Given the description of an element on the screen output the (x, y) to click on. 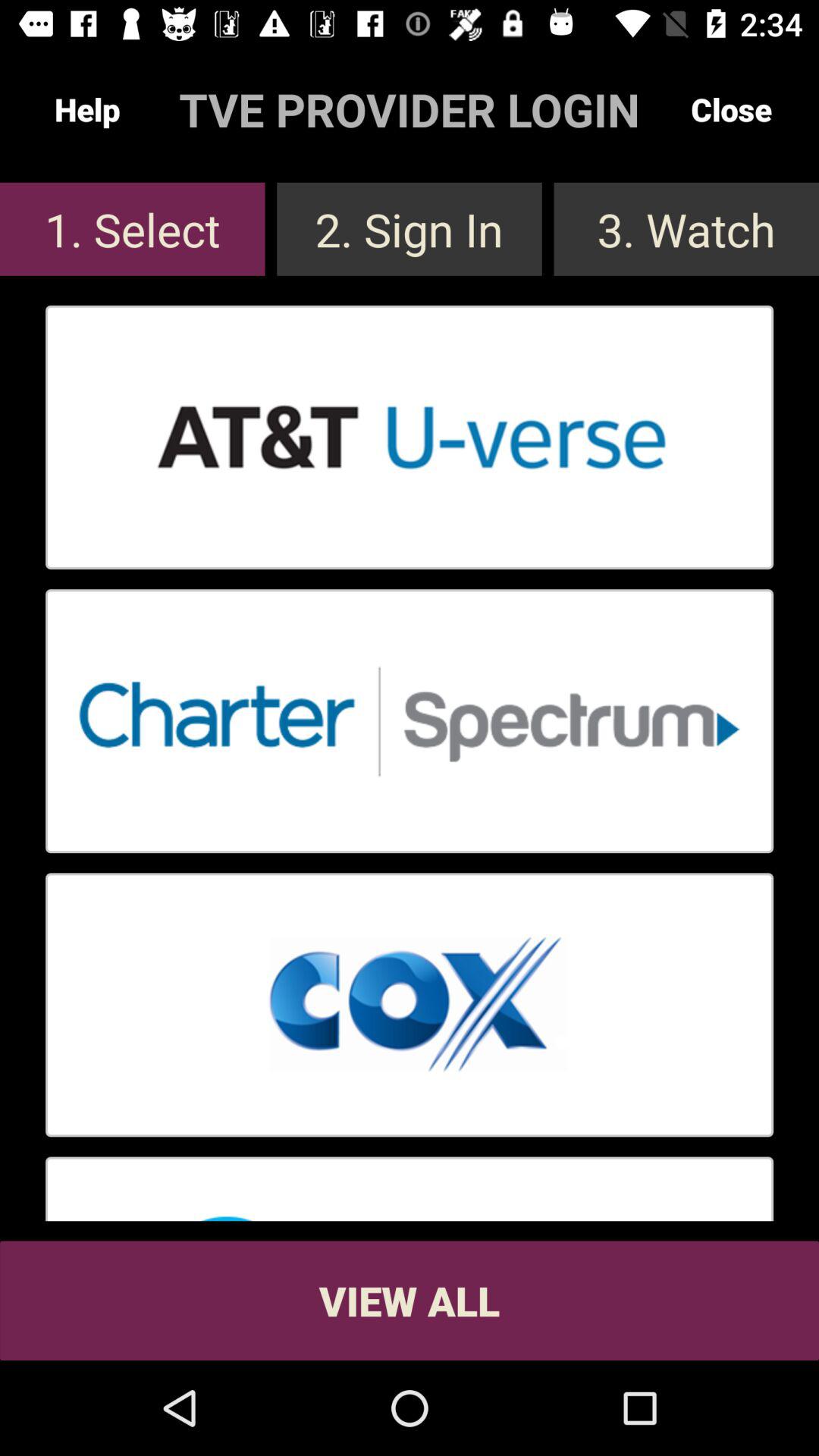
launch help button (87, 108)
